Given the description of an element on the screen output the (x, y) to click on. 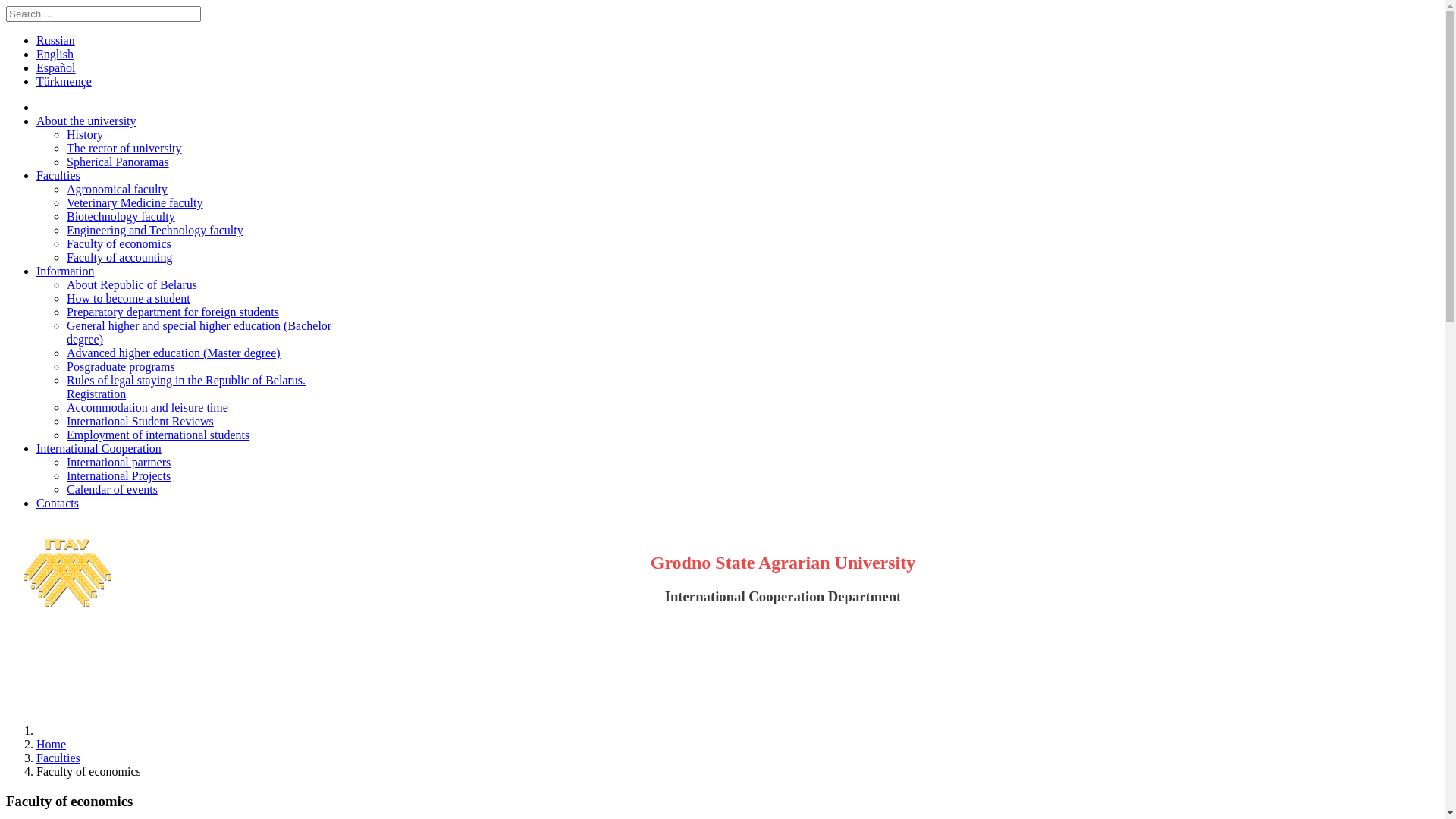
Engineering and Technology faculty Element type: text (154, 229)
Faculty of accounting Element type: text (119, 257)
Faculty of economics Element type: text (118, 243)
About Republic of Belarus Element type: text (131, 284)
How to become a student Element type: text (128, 297)
Spherical Panoramas Element type: text (117, 161)
Posgraduate programs Element type: text (120, 366)
Calendar of events Element type: text (111, 489)
Faculties Element type: text (58, 757)
Advanced higher education (Master degree) Element type: text (173, 352)
Russian Element type: text (55, 40)
International Student Reviews Element type: text (139, 420)
Employment of international students Element type: text (157, 434)
Biotechnology faculty Element type: text (120, 216)
Faculties Element type: text (58, 175)
Accommodation and leisure time Element type: text (147, 407)
Preparatory department for foreign students Element type: text (172, 311)
Information Element type: text (65, 270)
International partners Element type: text (118, 461)
International Cooperation Element type: text (98, 448)
Veterinary Medicine faculty Element type: text (134, 202)
Home Element type: text (50, 743)
About the university Element type: text (86, 120)
Agronomical faculty Element type: text (116, 188)
The rector of university Element type: text (124, 147)
History Element type: text (84, 134)
Contacts Element type: text (57, 502)
English Element type: text (54, 53)
International Projects Element type: text (118, 475)
